Given the description of an element on the screen output the (x, y) to click on. 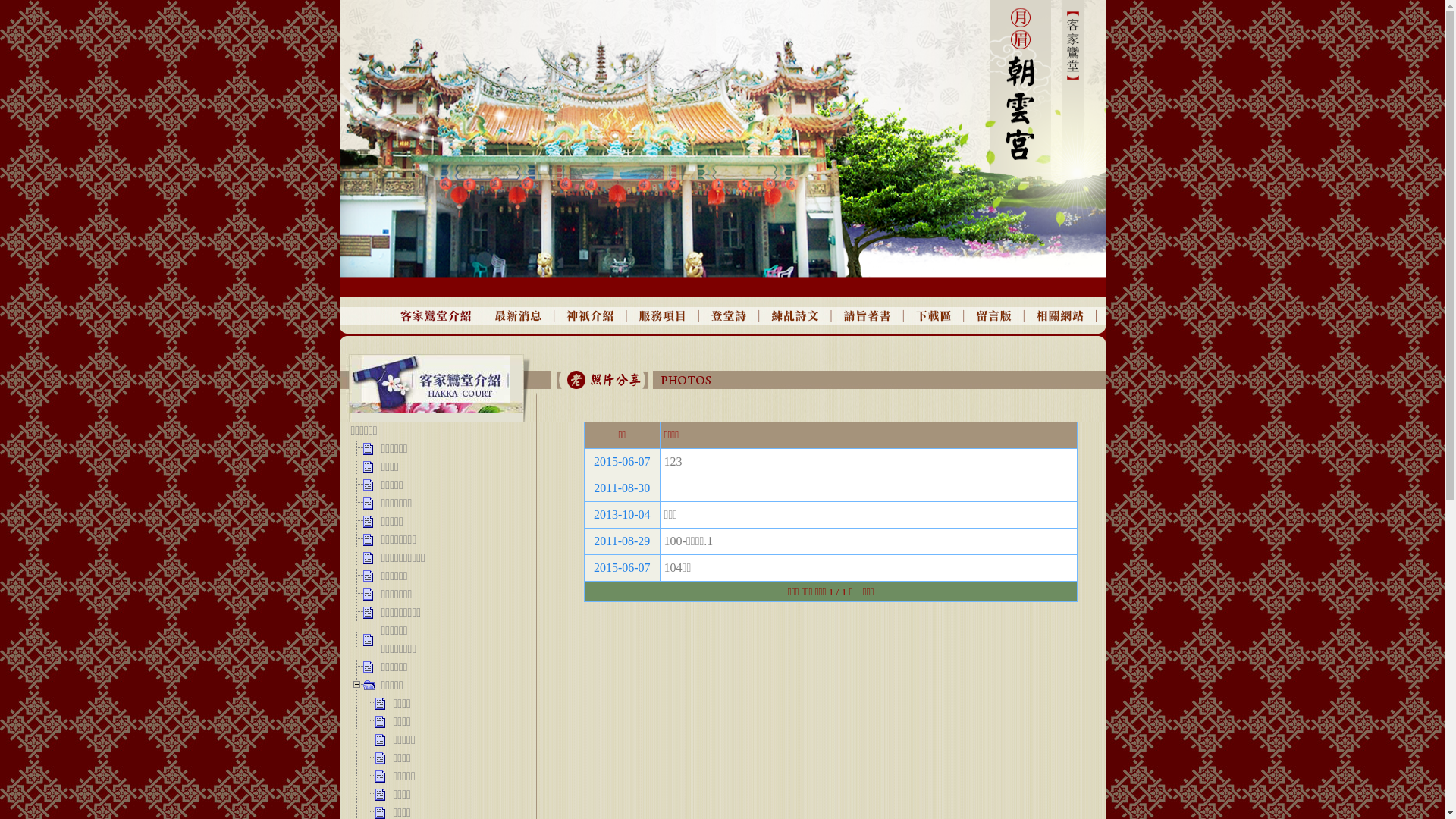
123 Element type: text (673, 461)
